Given the description of an element on the screen output the (x, y) to click on. 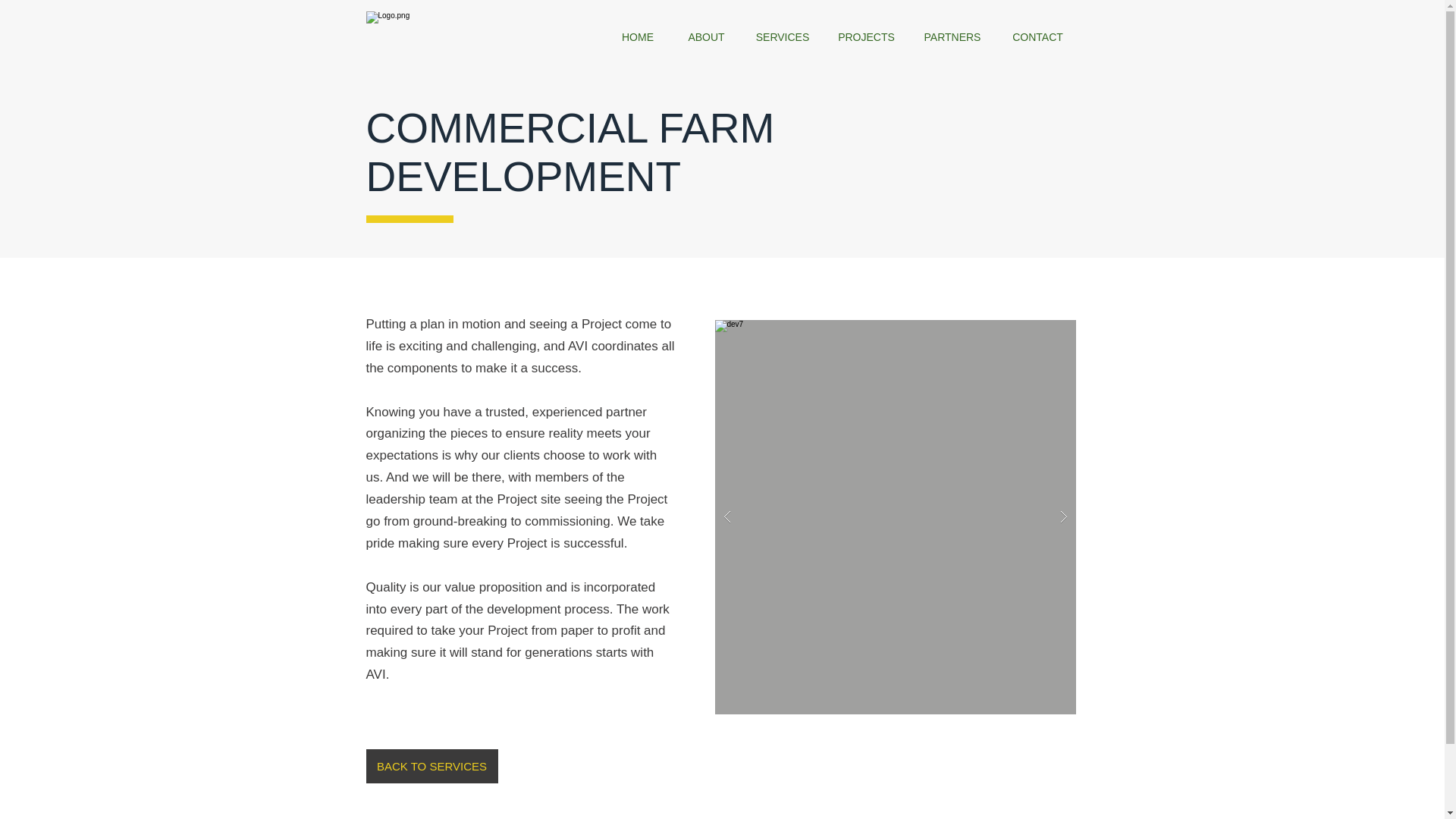
SERVICES (781, 37)
BACK TO SERVICES (431, 765)
ABOUT (705, 37)
HOME (638, 37)
PARTNERS (952, 37)
CONTACT (1037, 37)
PROJECTS (867, 37)
